Given the description of an element on the screen output the (x, y) to click on. 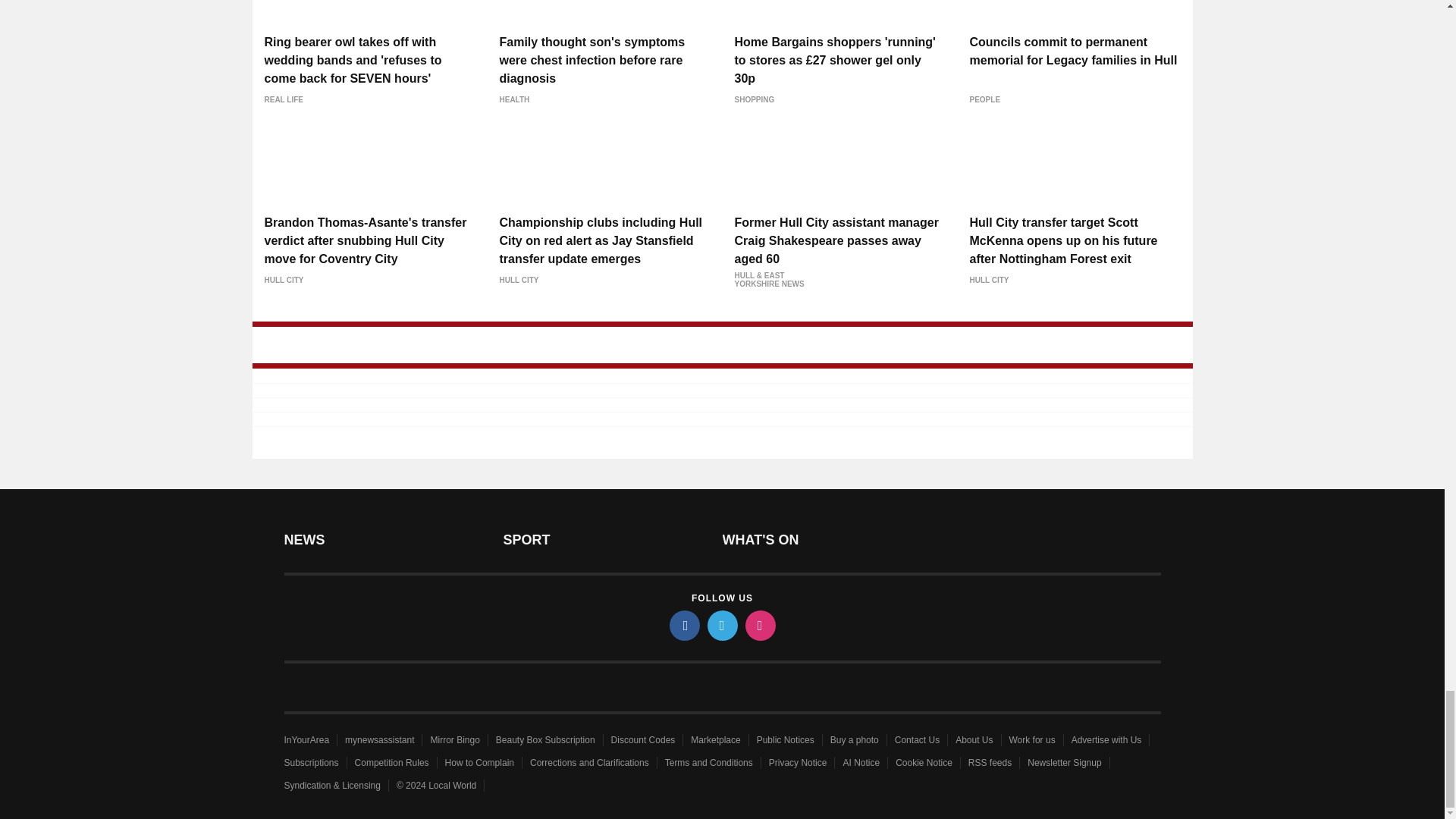
facebook (683, 625)
instagram (759, 625)
twitter (721, 625)
